Given the description of an element on the screen output the (x, y) to click on. 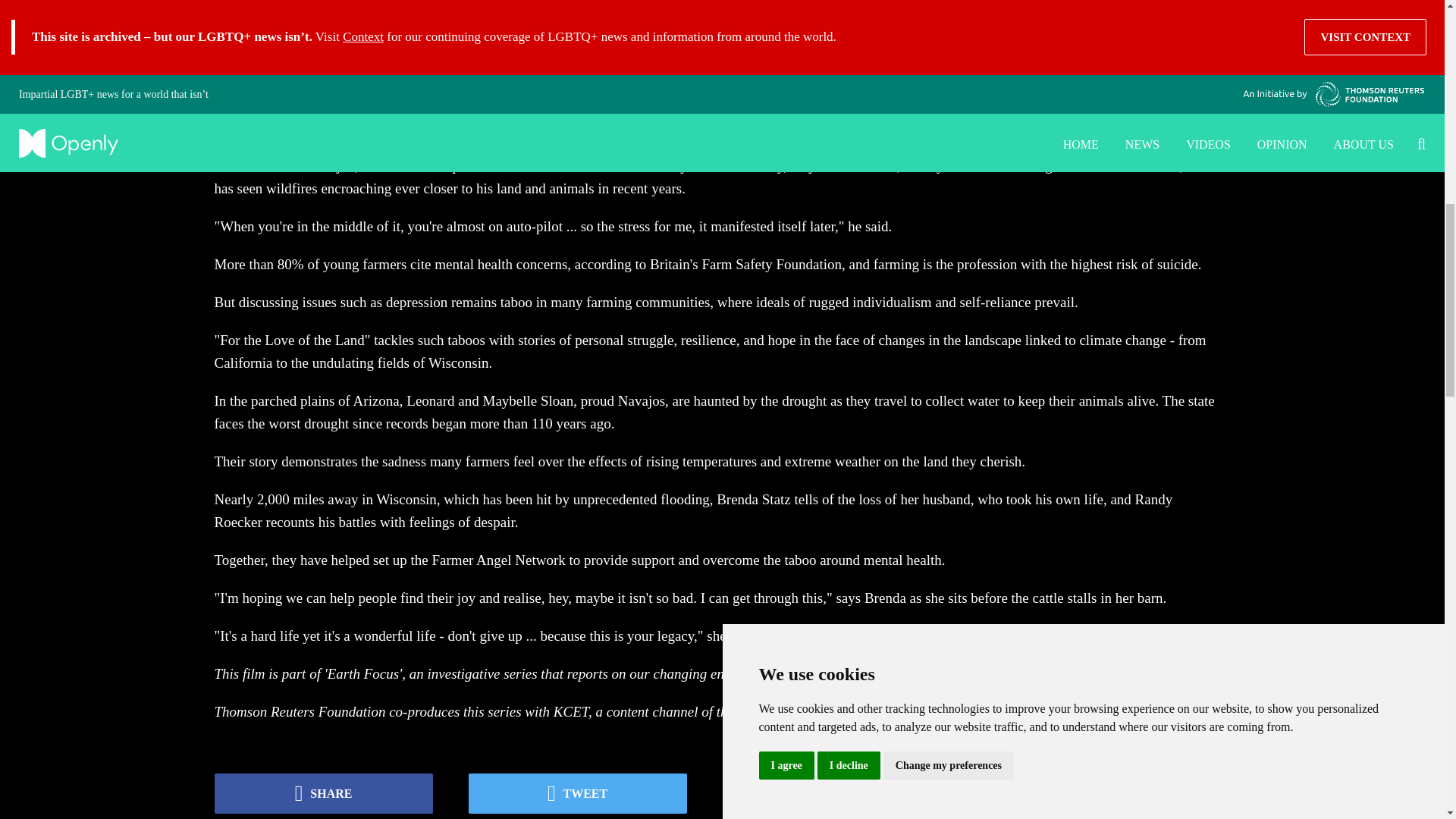
EMAIL (1103, 793)
Nicky Milne (262, 6)
SHARE (323, 793)
TWEET (577, 793)
SHARE (831, 793)
